Given the description of an element on the screen output the (x, y) to click on. 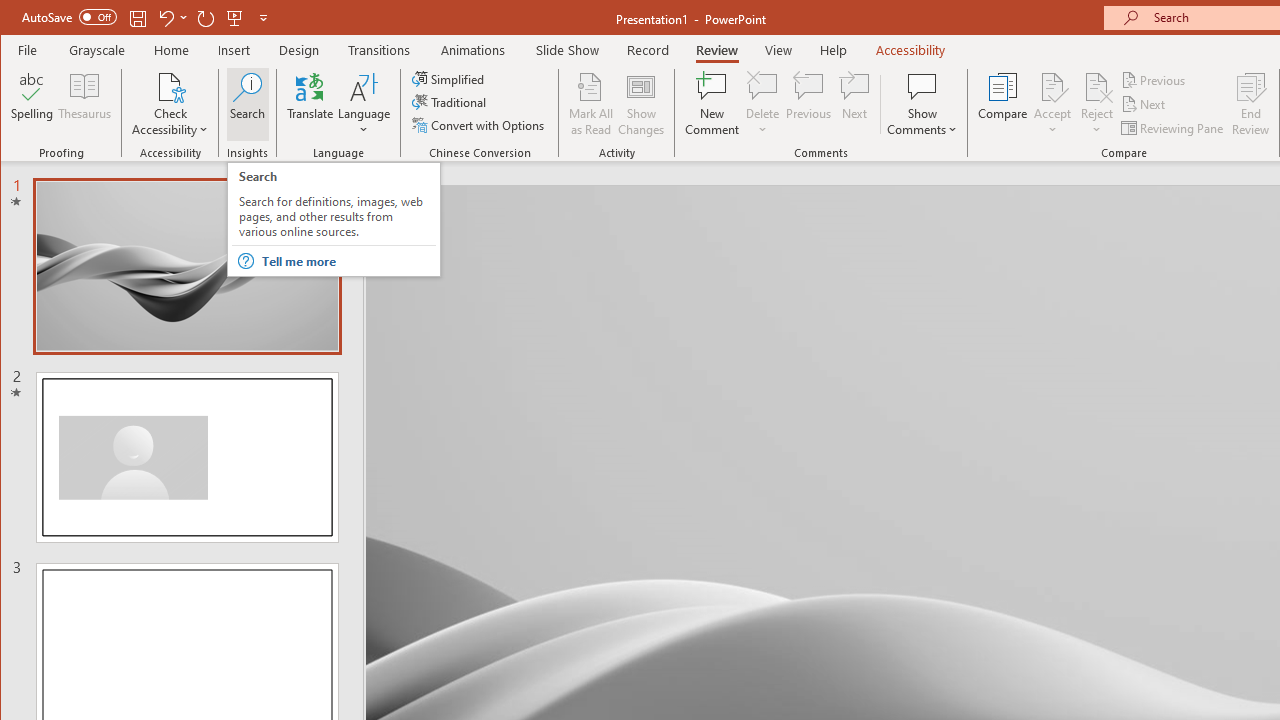
Spelling... (32, 104)
Translate (310, 104)
Reviewing Pane (1173, 127)
Traditional (450, 101)
Delete (762, 86)
Show Changes (640, 104)
Show Comments (922, 86)
Check Accessibility (170, 104)
Mark All as Read (591, 104)
Check Accessibility (170, 86)
Previous (1154, 80)
